Given the description of an element on the screen output the (x, y) to click on. 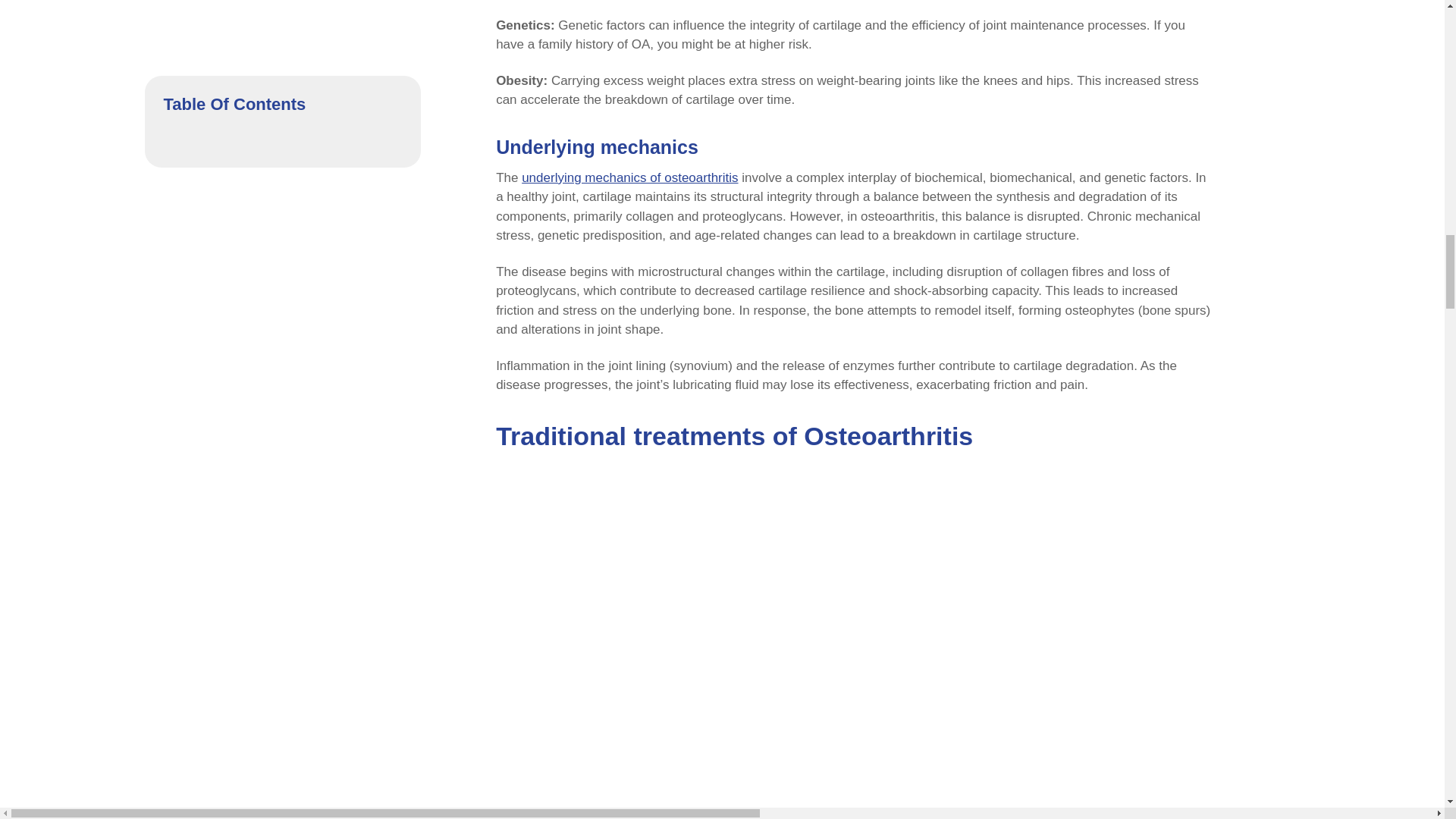
underlying mechanics of osteoarthritis (629, 177)
